Given the description of an element on the screen output the (x, y) to click on. 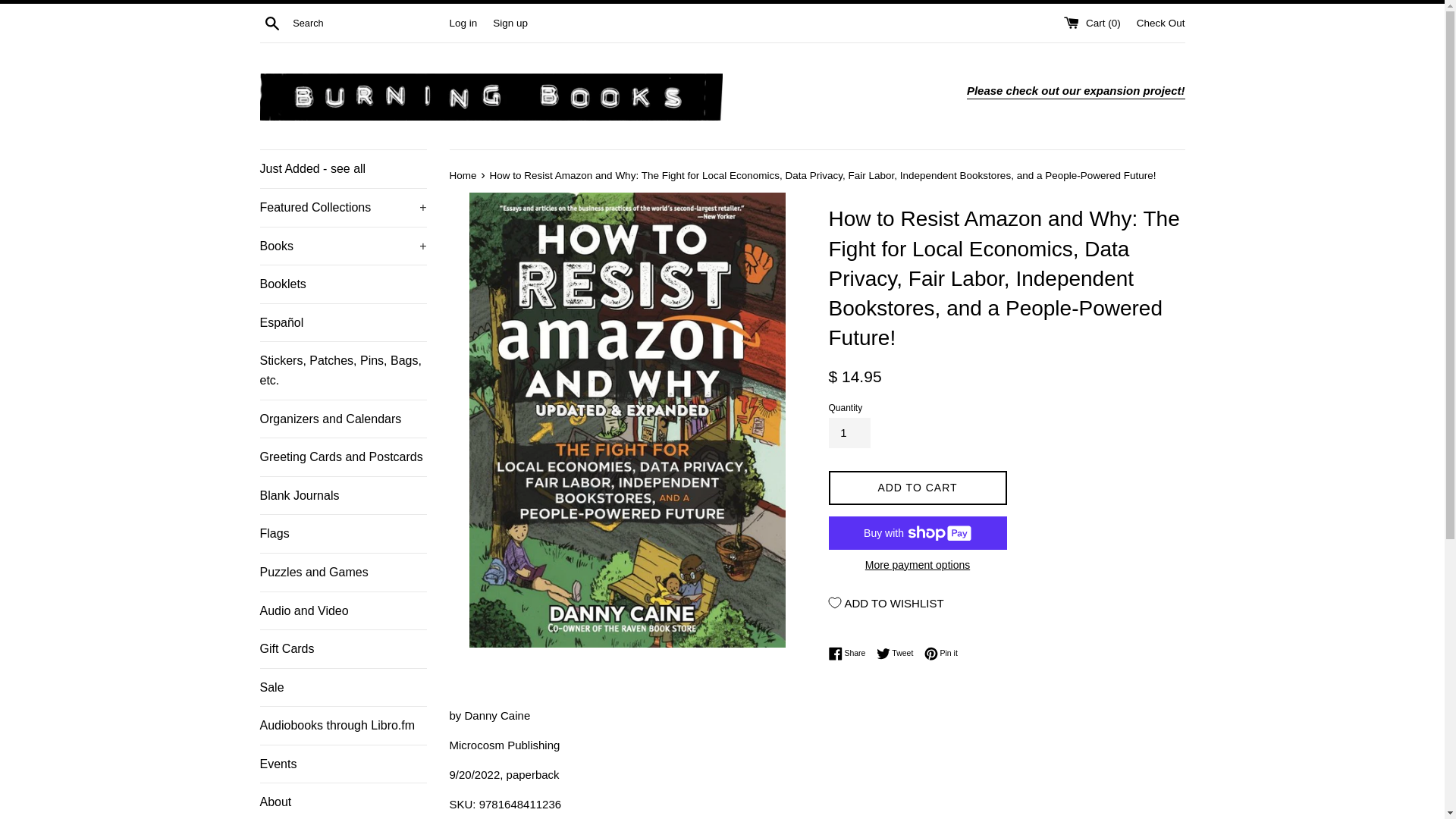
Please check out our expansion project! (1075, 91)
Pin on Pinterest (941, 653)
Back to the frontpage (463, 174)
Sign up (510, 21)
Add to Wishlist (885, 602)
Tweet on Twitter (898, 653)
Check Out (1161, 21)
Share on Facebook (850, 653)
Booklets (342, 284)
Log in (462, 21)
Just Added - see all (342, 168)
Stickers, Patches, Pins, Bags, etc. (342, 370)
1 (848, 432)
Search (271, 21)
